Given the description of an element on the screen output the (x, y) to click on. 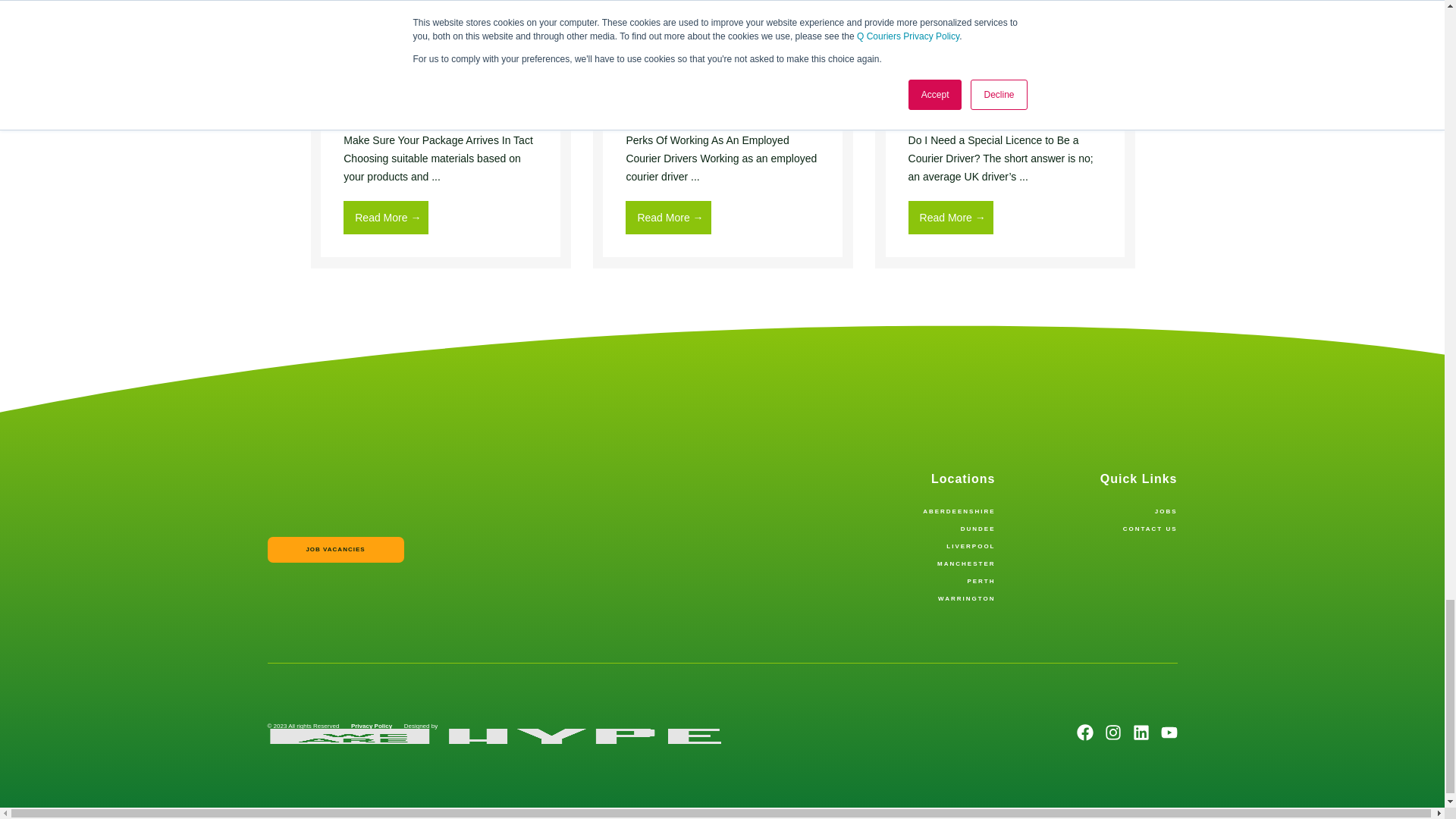
Fleet Management Software of 2024 10 (1005, 28)
Do I need a special license to be a courier driver? (1005, 52)
Fleet Management Software of 2024 9 (722, 28)
Fleet Management Software of 2024 8 (440, 28)
How To Wrap a Parcel For Delivery (440, 52)
Working as an Employed Courier Driver (722, 52)
